Given the description of an element on the screen output the (x, y) to click on. 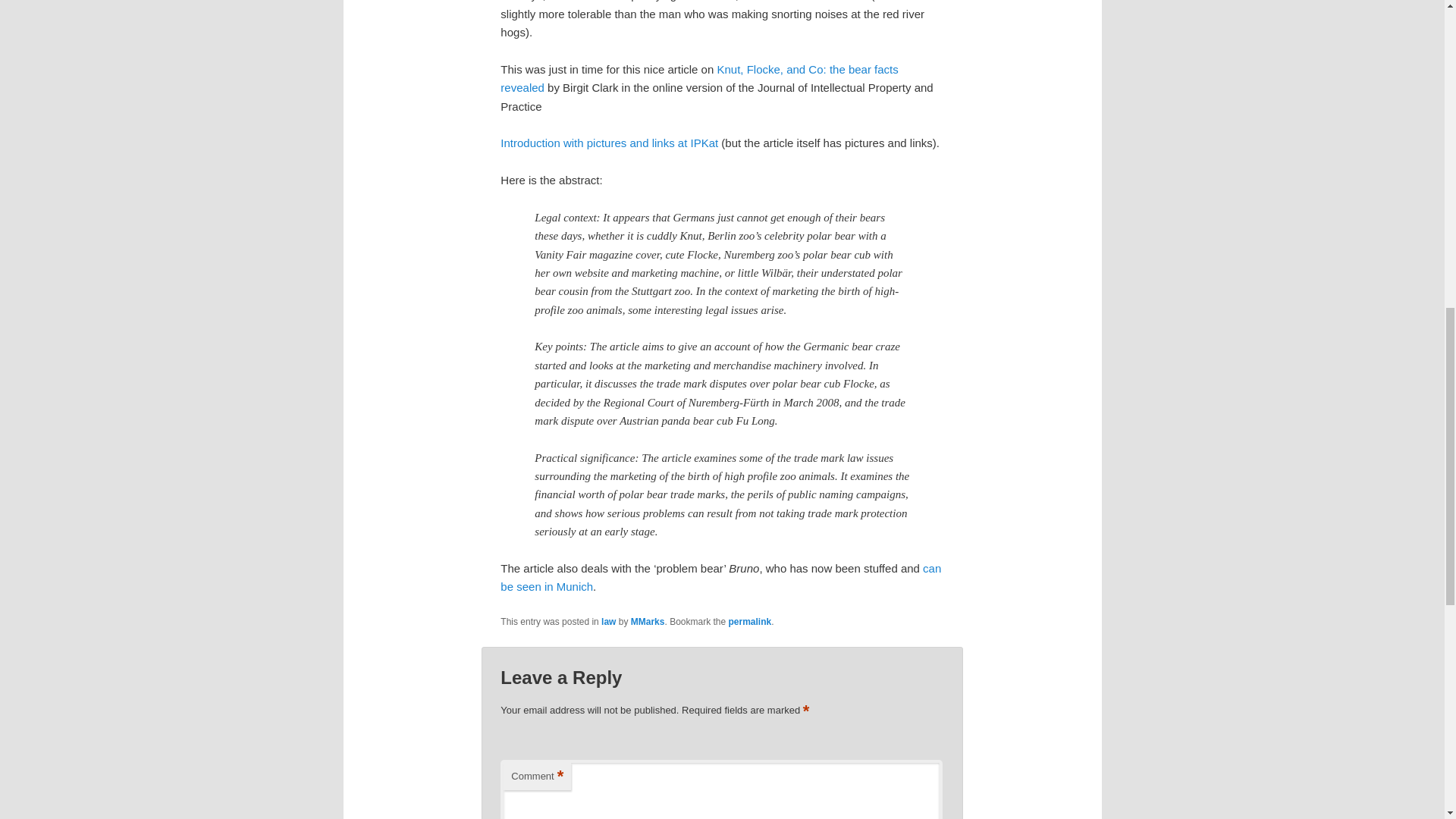
can be seen in Munich (720, 576)
Introduction with pictures and links at IPKat (608, 142)
law (608, 621)
permalink (750, 621)
Knut, Flocke, and Co: the bear facts revealed (699, 78)
MMarks (647, 621)
